Given the description of an element on the screen output the (x, y) to click on. 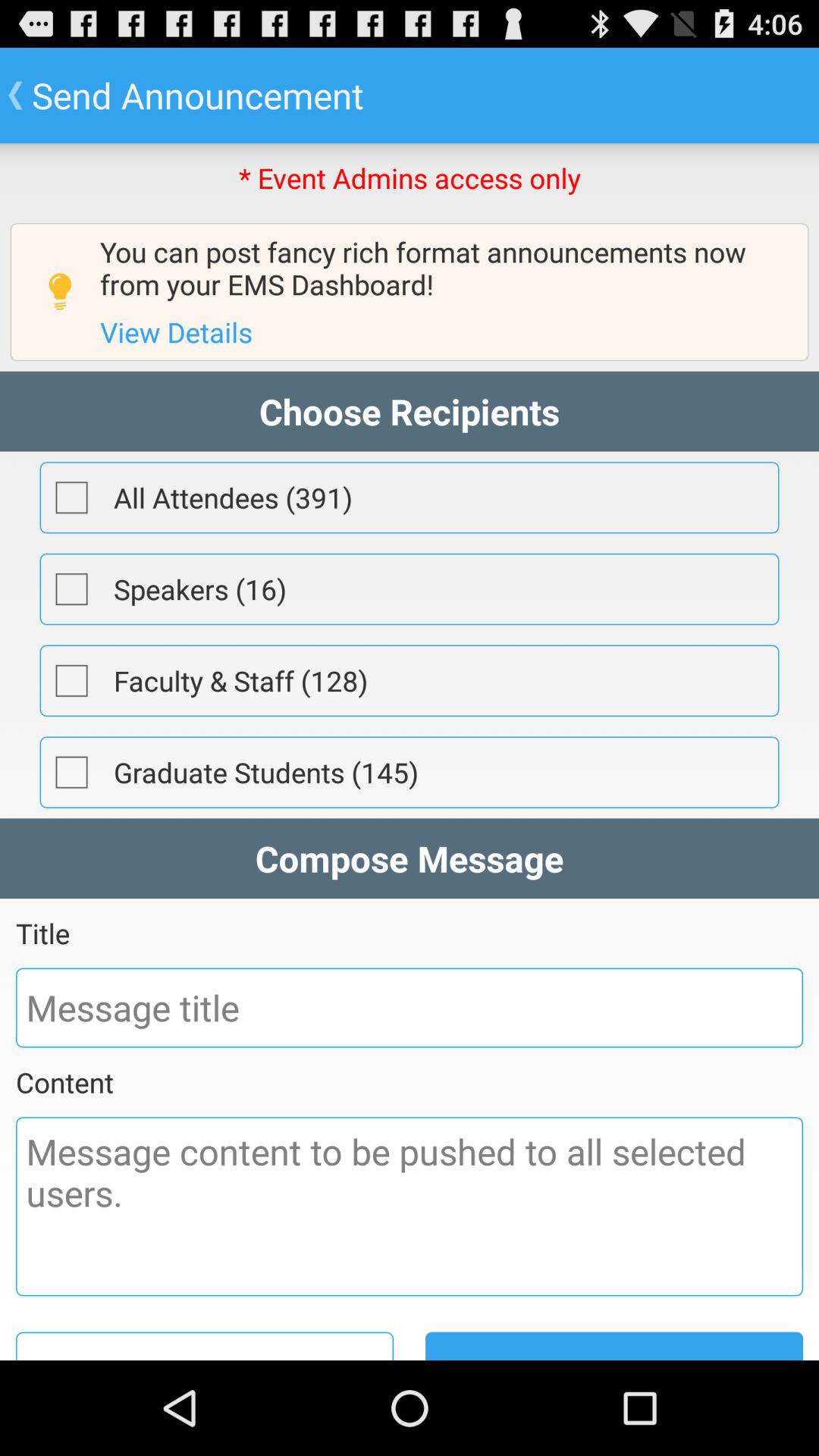
select recipients (71, 772)
